Given the description of an element on the screen output the (x, y) to click on. 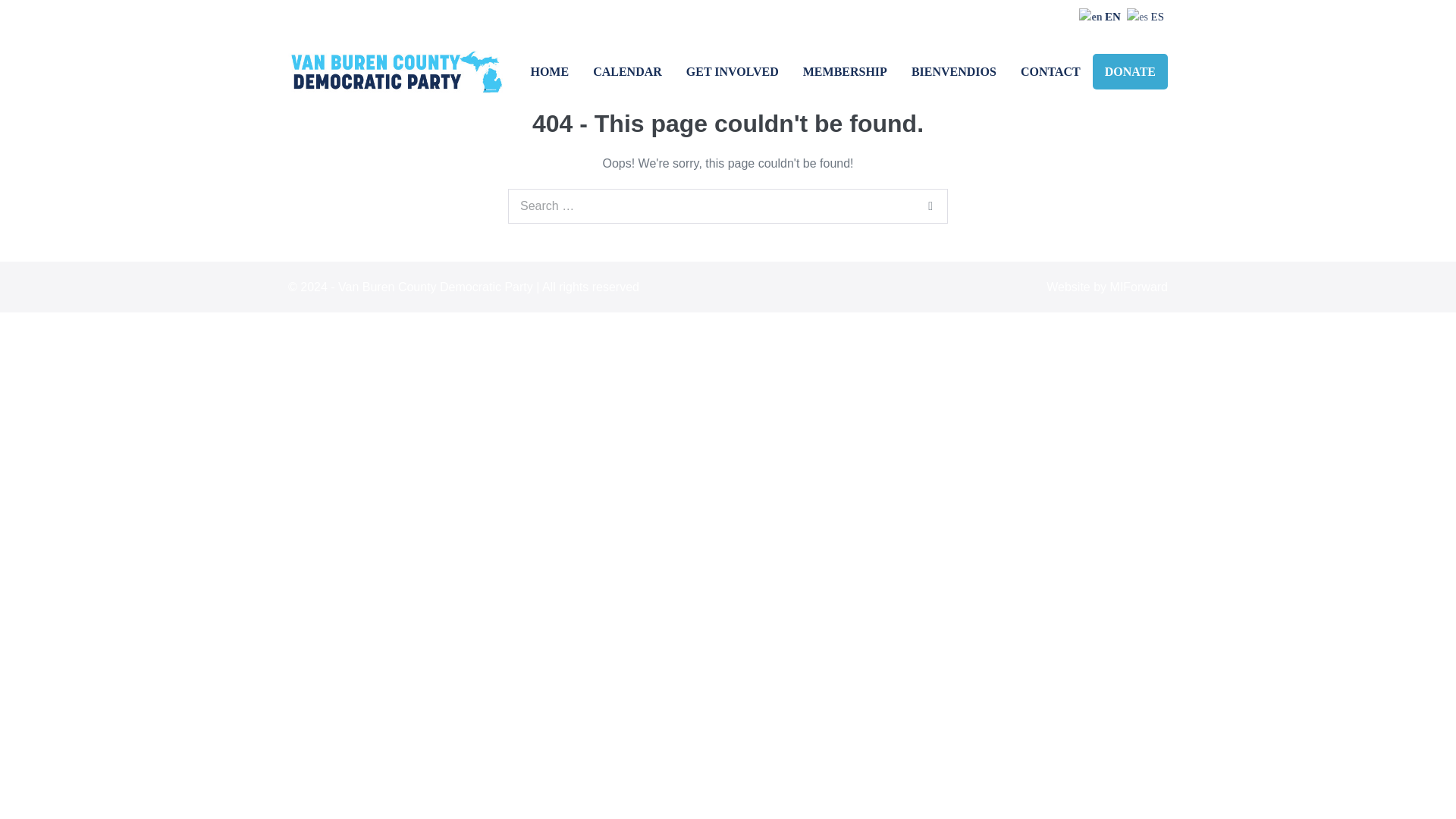
BIENVENDIOS (954, 71)
GET INVOLVED (732, 71)
Van Buren County Democratic Party (398, 71)
ES (1146, 16)
HOME (549, 71)
EN (1101, 16)
English (1101, 16)
Spanish (1146, 16)
Press enter to search (727, 206)
MEMBERSHIP (844, 71)
